Given the description of an element on the screen output the (x, y) to click on. 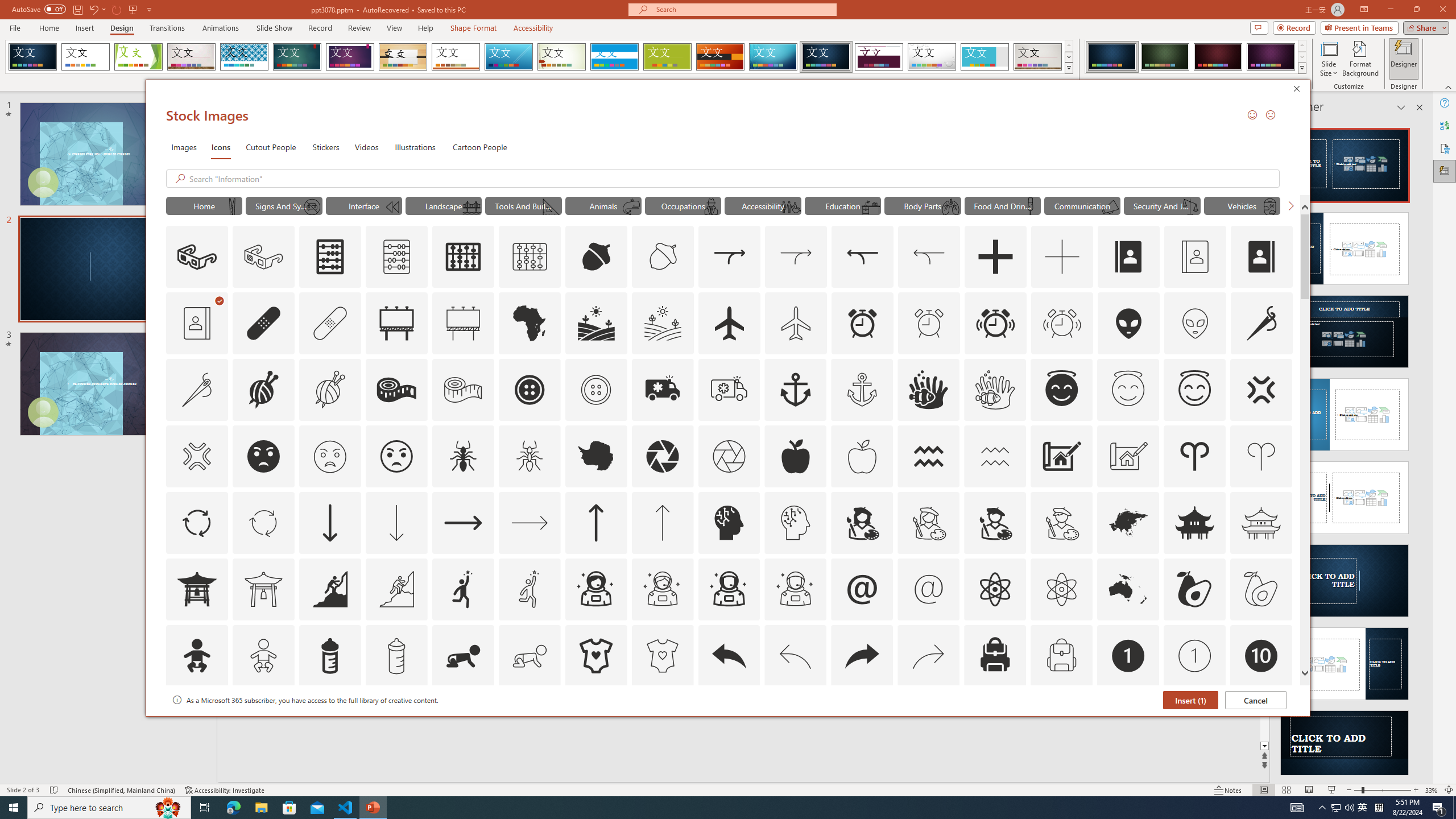
AutomationID: Icons (1260, 721)
AutomationID: Icons_AlterationsTailoring2 (395, 389)
Circuit (772, 56)
AutomationID: Icons_Backpack (995, 655)
AutomationID: Icons_Abacus1_M (529, 256)
AutomationID: Icons_Back_LTR (729, 655)
AutomationID: ThemeVariantsGallery (1195, 56)
AutomationID: Icons_AlterationsTailoring3 (529, 389)
AutomationID: Icons_BabyBottle_M (395, 655)
Basis (667, 56)
AutomationID: Icons_Backpack_M (1061, 655)
AutomationID: Icons_Badge4 (529, 721)
